Given the description of an element on the screen output the (x, y) to click on. 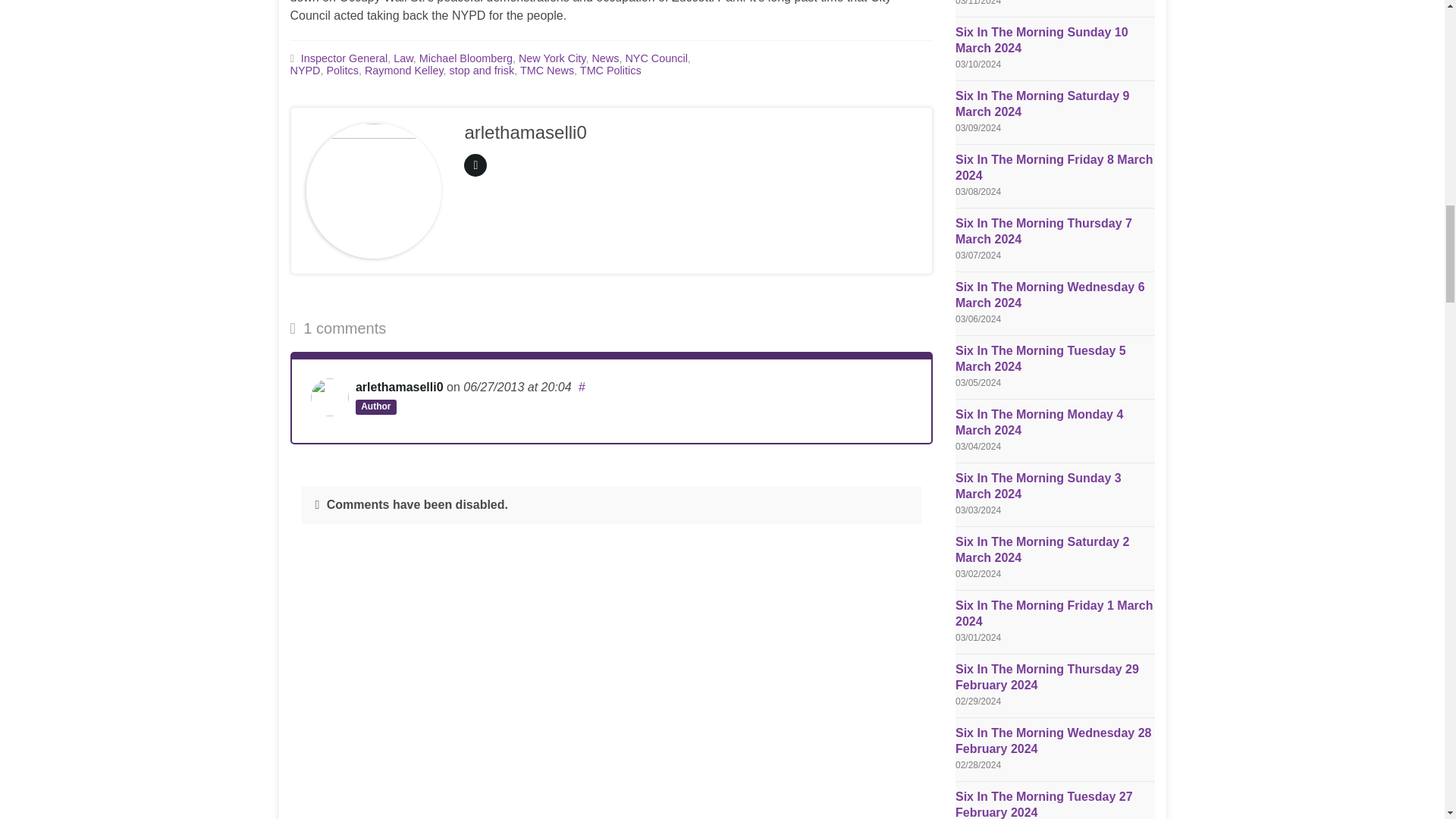
TMC Politics (610, 70)
Politcs (342, 70)
arlethamaselli0 (399, 386)
Michael Bloomberg (465, 58)
NYC Council (655, 58)
stop and frisk (482, 70)
TMC News (546, 70)
Law (403, 58)
Raymond Kelley (404, 70)
New York City (552, 58)
